Given the description of an element on the screen output the (x, y) to click on. 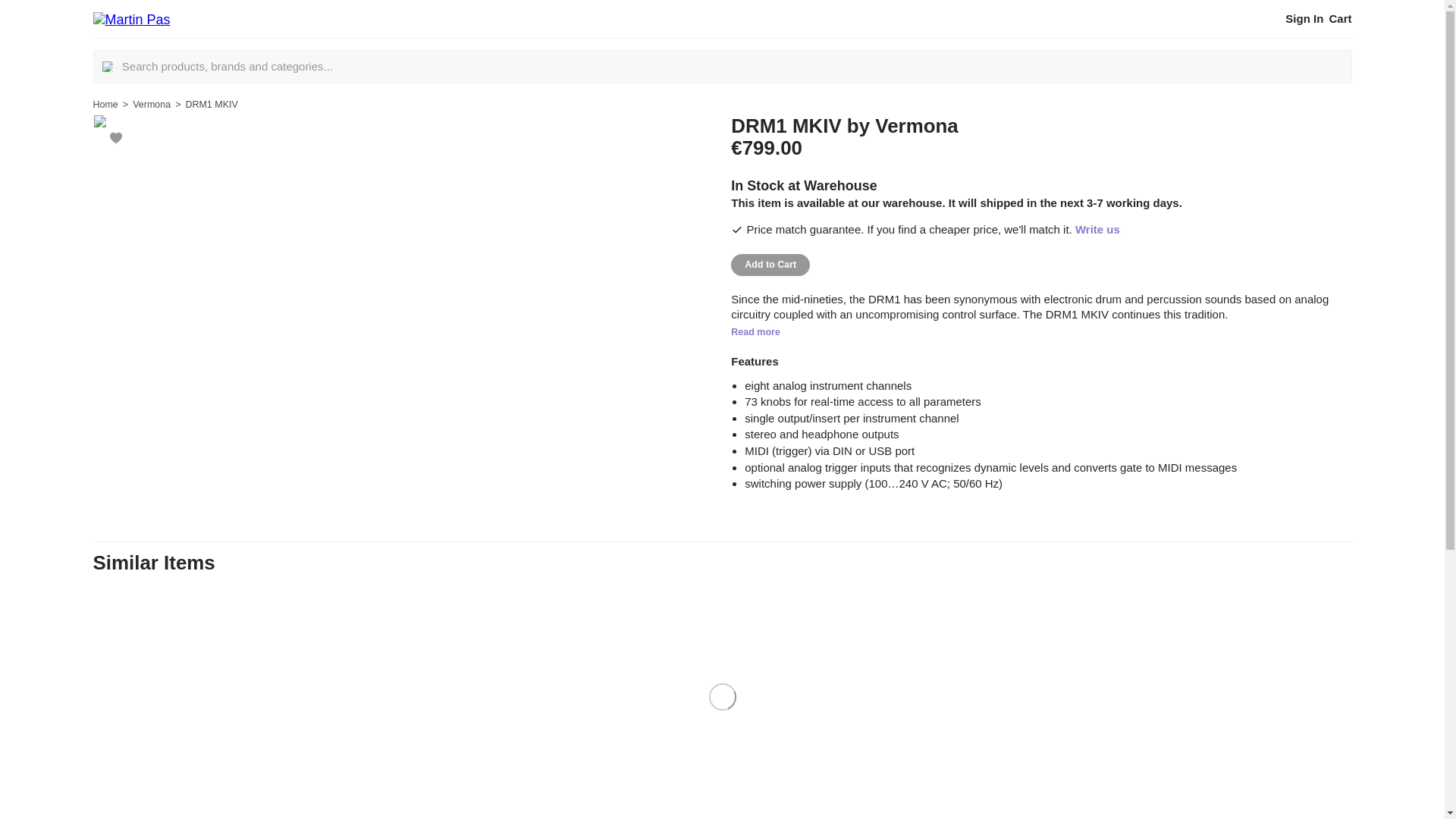
Sign In (1304, 18)
Vermona (151, 104)
Read more (755, 331)
Write us (1097, 228)
Home (105, 104)
Vermona (916, 125)
Add to Cart (769, 264)
